Given the description of an element on the screen output the (x, y) to click on. 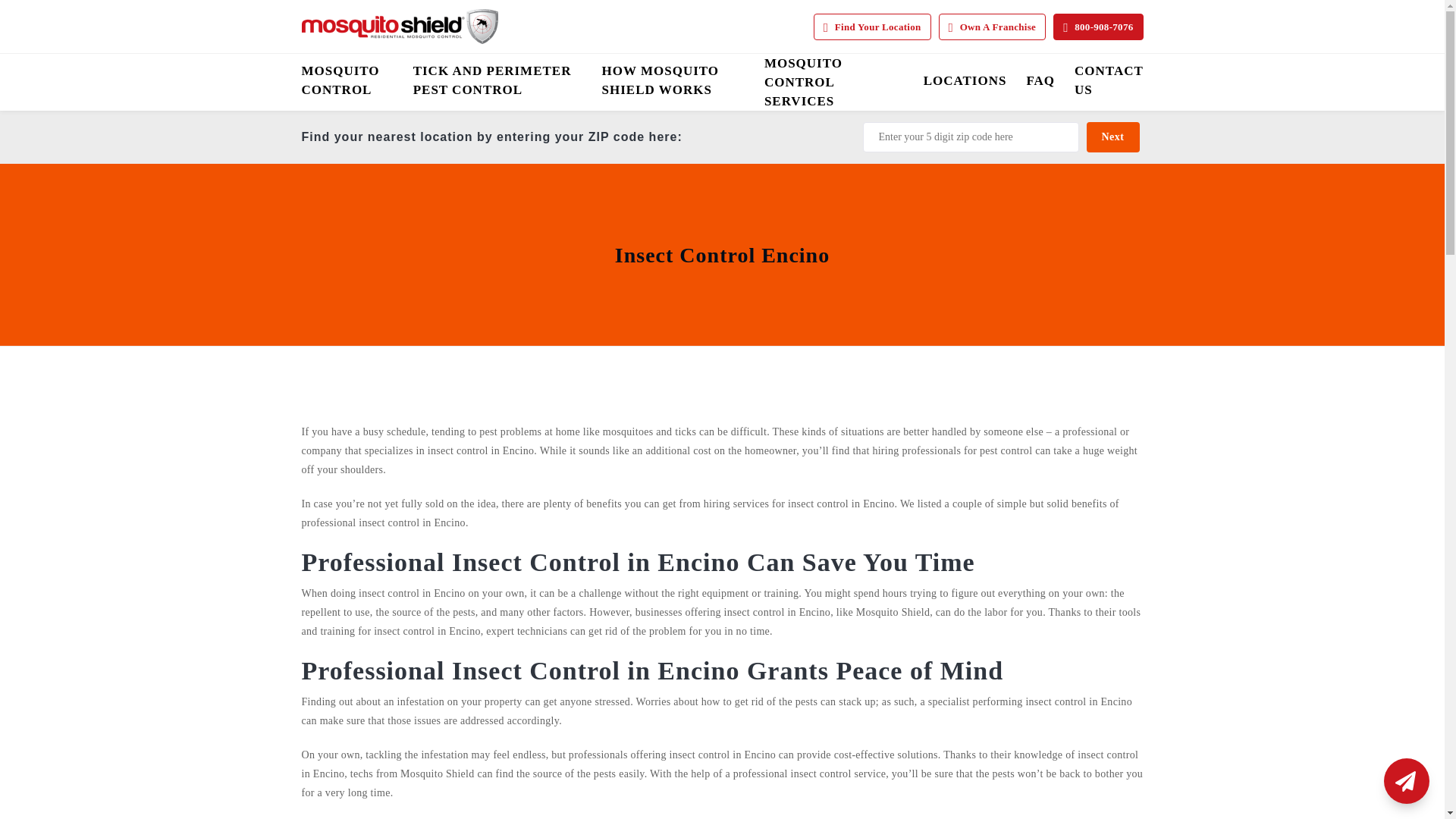
800-908-7076 (1097, 26)
FAQ (1040, 80)
LOCATIONS (965, 80)
CONTACT US (1108, 80)
HOW MOSQUITO SHIELD WORKS (673, 80)
Find Your Location (872, 26)
MOSQUITO CONTROL (347, 80)
TICK AND PERIMETER PEST CONTROL (497, 80)
Next (1112, 137)
MOSQUITO CONTROL SERVICES (834, 82)
Own A Franchise (992, 26)
